Given the description of an element on the screen output the (x, y) to click on. 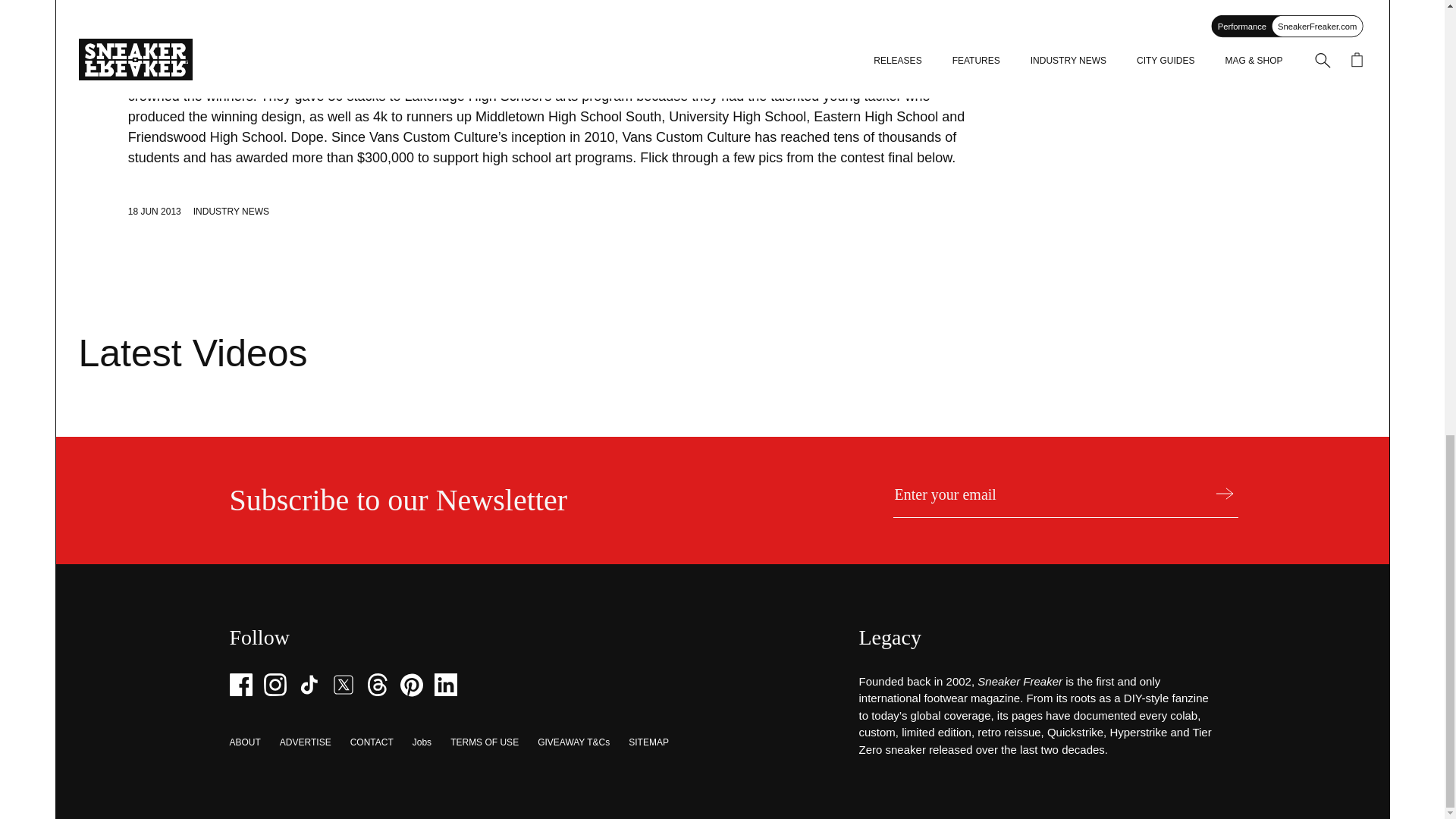
INDUSTRY NEWS (231, 211)
ABOUT (244, 742)
SITEMAP (648, 742)
Jobs (421, 742)
Vans (194, 75)
CONTACT (371, 742)
TERMS OF USE (483, 742)
ADVERTISE (305, 742)
